Given the description of an element on the screen output the (x, y) to click on. 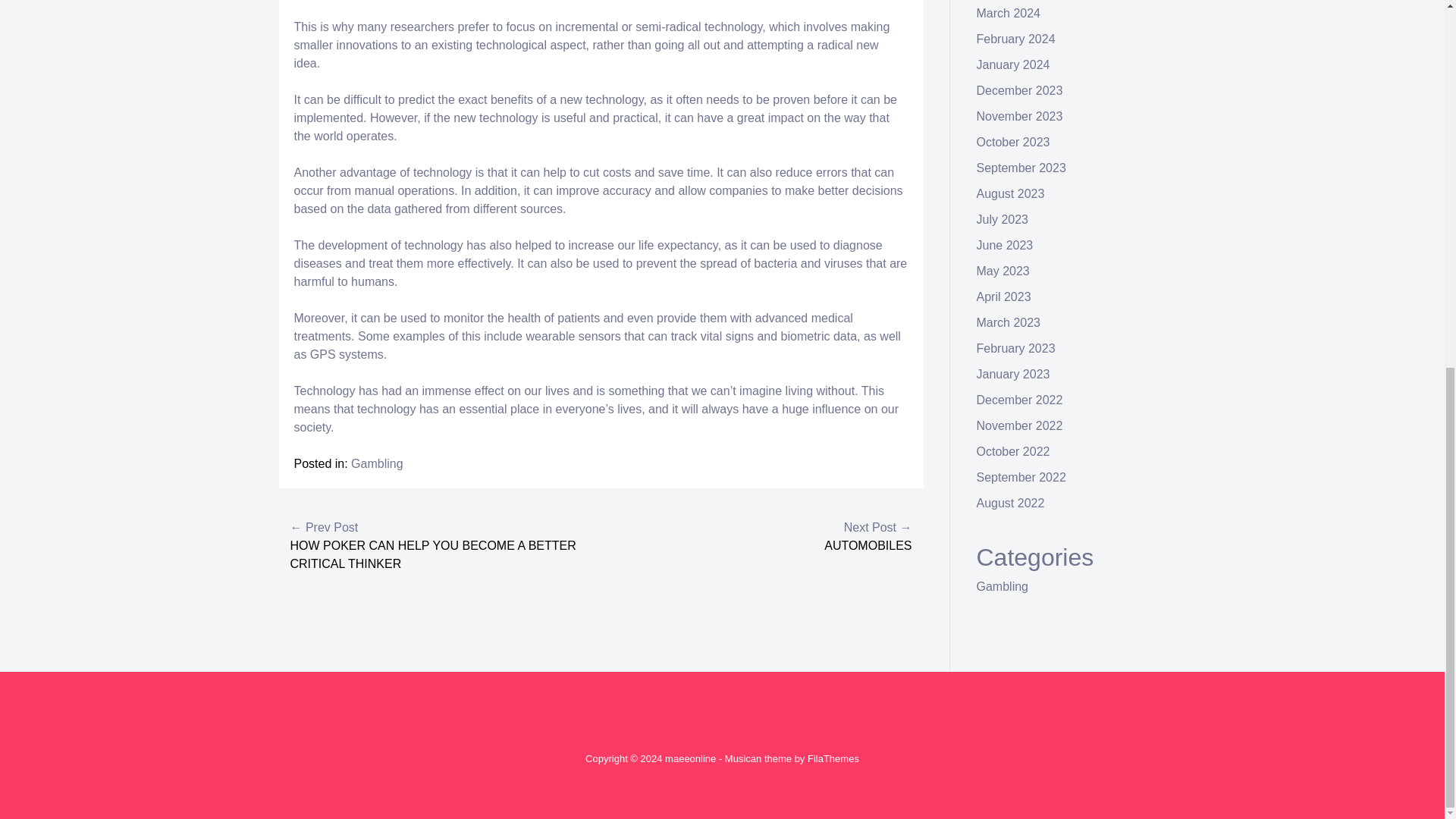
September 2022 (1020, 477)
April 2023 (1003, 296)
August 2022 (1010, 502)
Gambling (376, 463)
November 2023 (1019, 115)
February 2023 (1015, 348)
May 2023 (1002, 270)
maeeonline (690, 758)
September 2023 (1020, 167)
March 2023 (1008, 322)
